Given the description of an element on the screen output the (x, y) to click on. 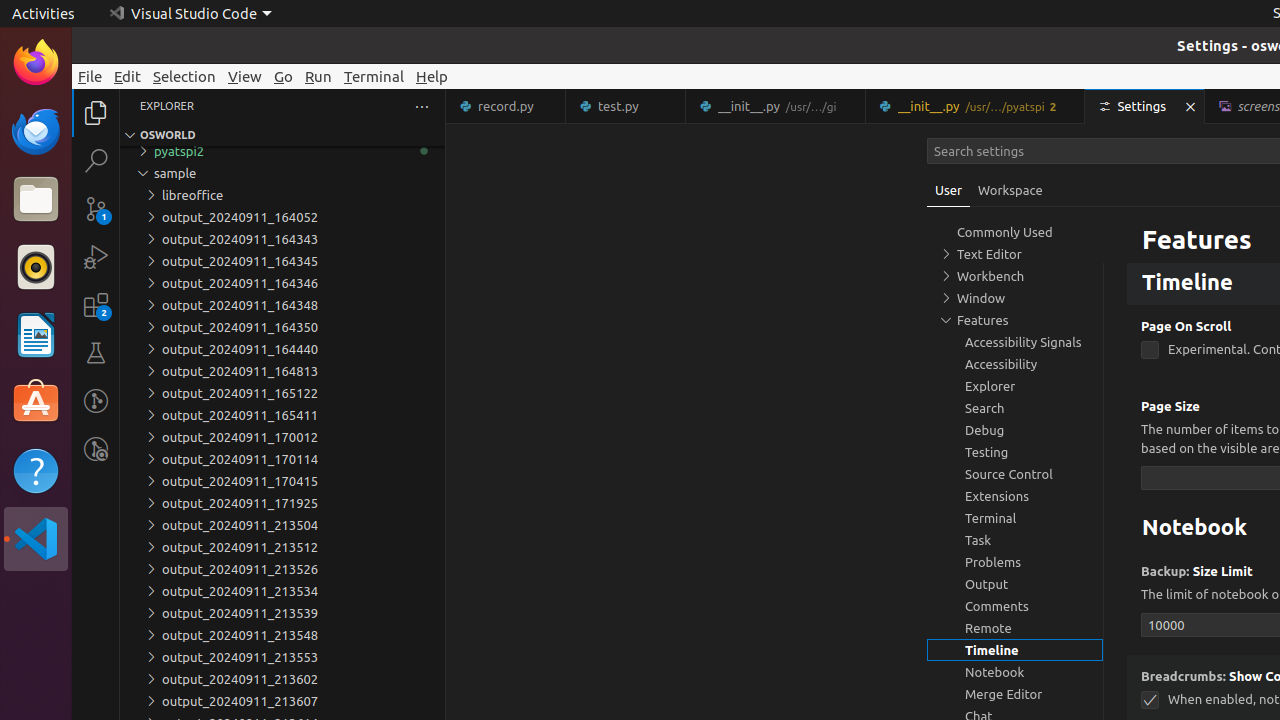
output_20240911_165411 Element type: tree-item (282, 415)
Search (Ctrl+Shift+F) Element type: page-tab (96, 160)
sample Element type: tree-item (282, 173)
File Element type: push-button (90, 76)
